Given the description of an element on the screen output the (x, y) to click on. 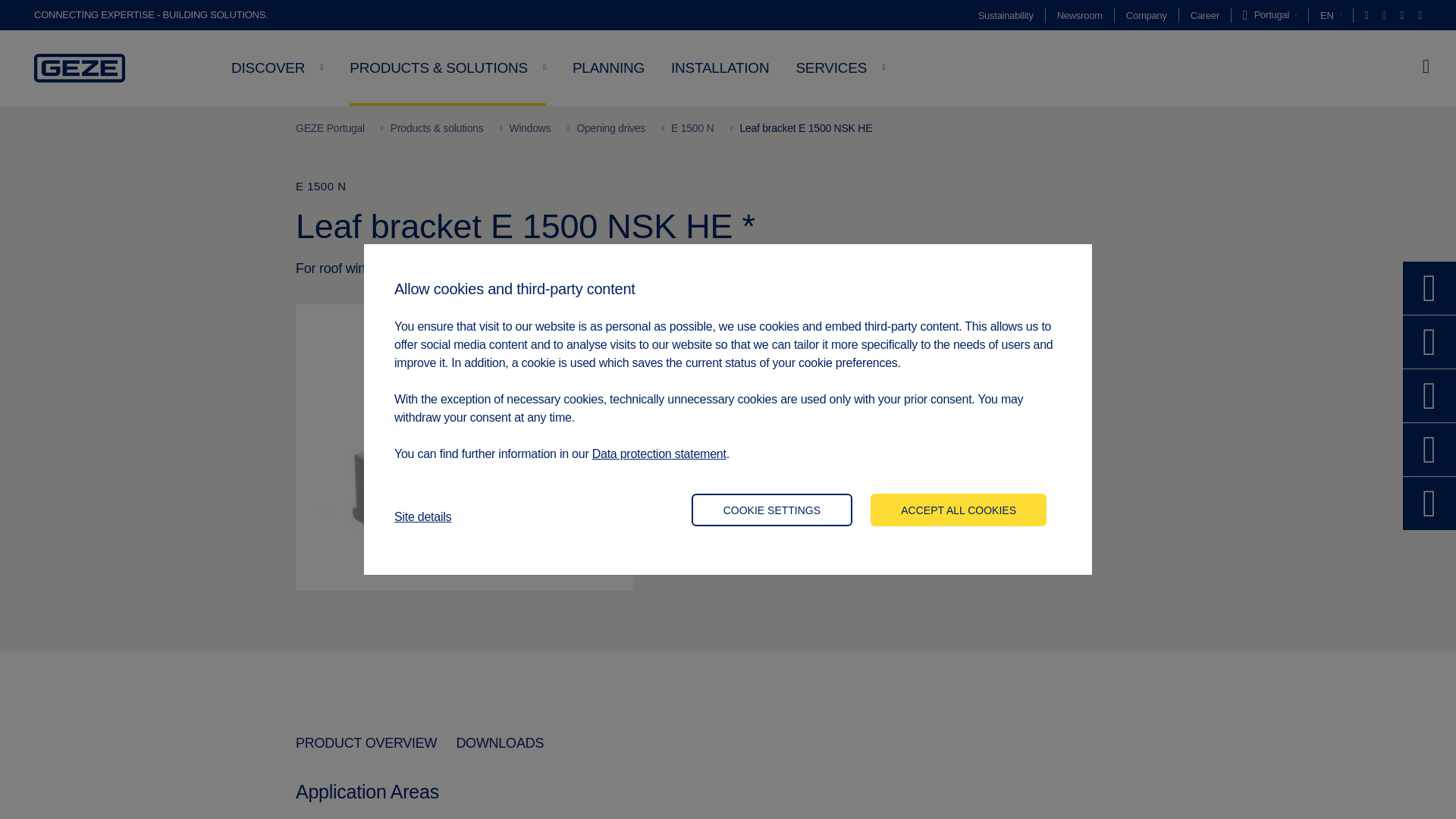
Company (1146, 15)
Company (1146, 15)
Sustainability (1005, 15)
Career (1205, 15)
Newsroom (1079, 15)
Sustainability (1005, 15)
Newsroom (1079, 15)
Portugal (1270, 15)
Career (1205, 15)
